Given the description of an element on the screen output the (x, y) to click on. 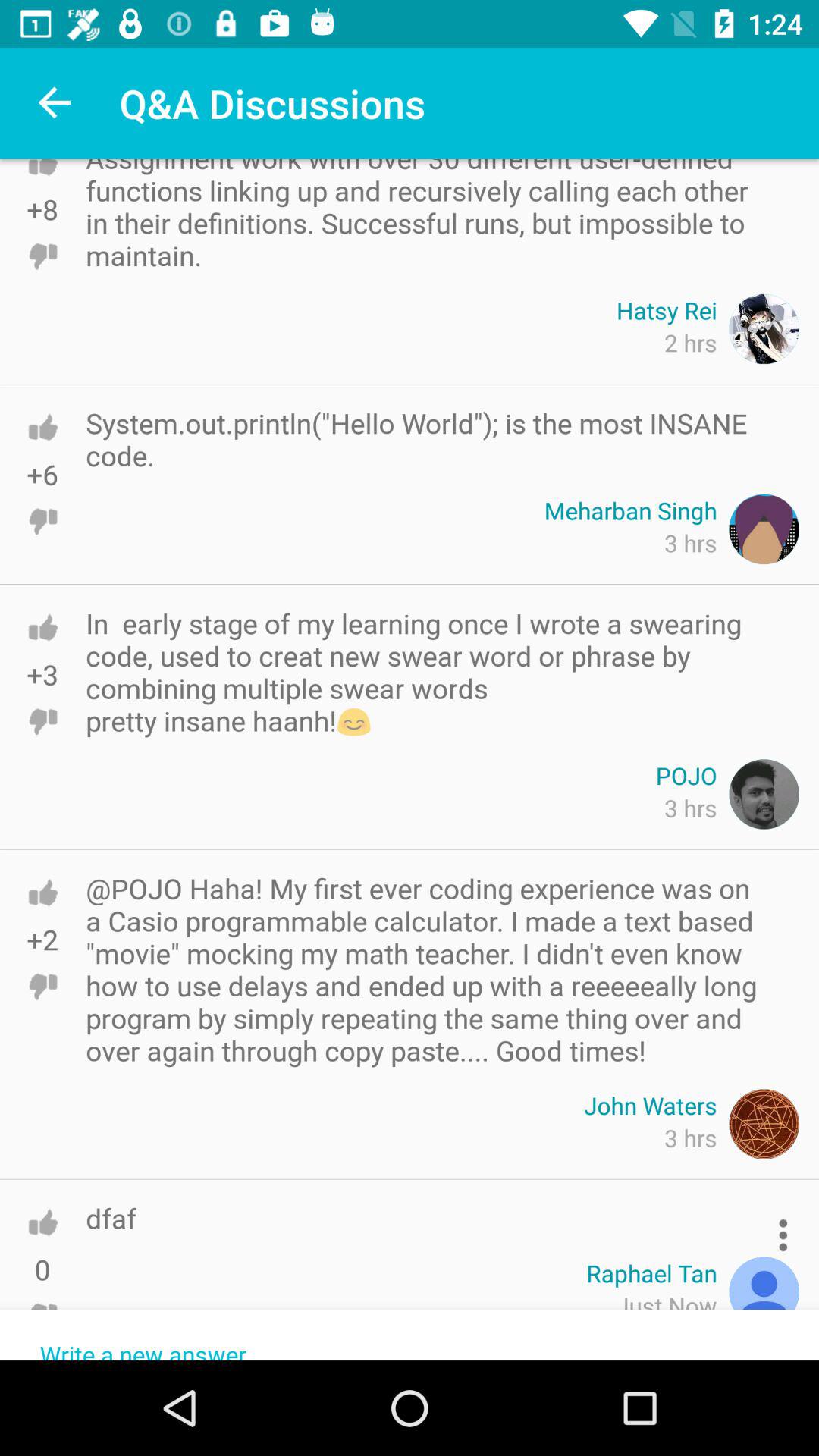
chat (42, 427)
